Given the description of an element on the screen output the (x, y) to click on. 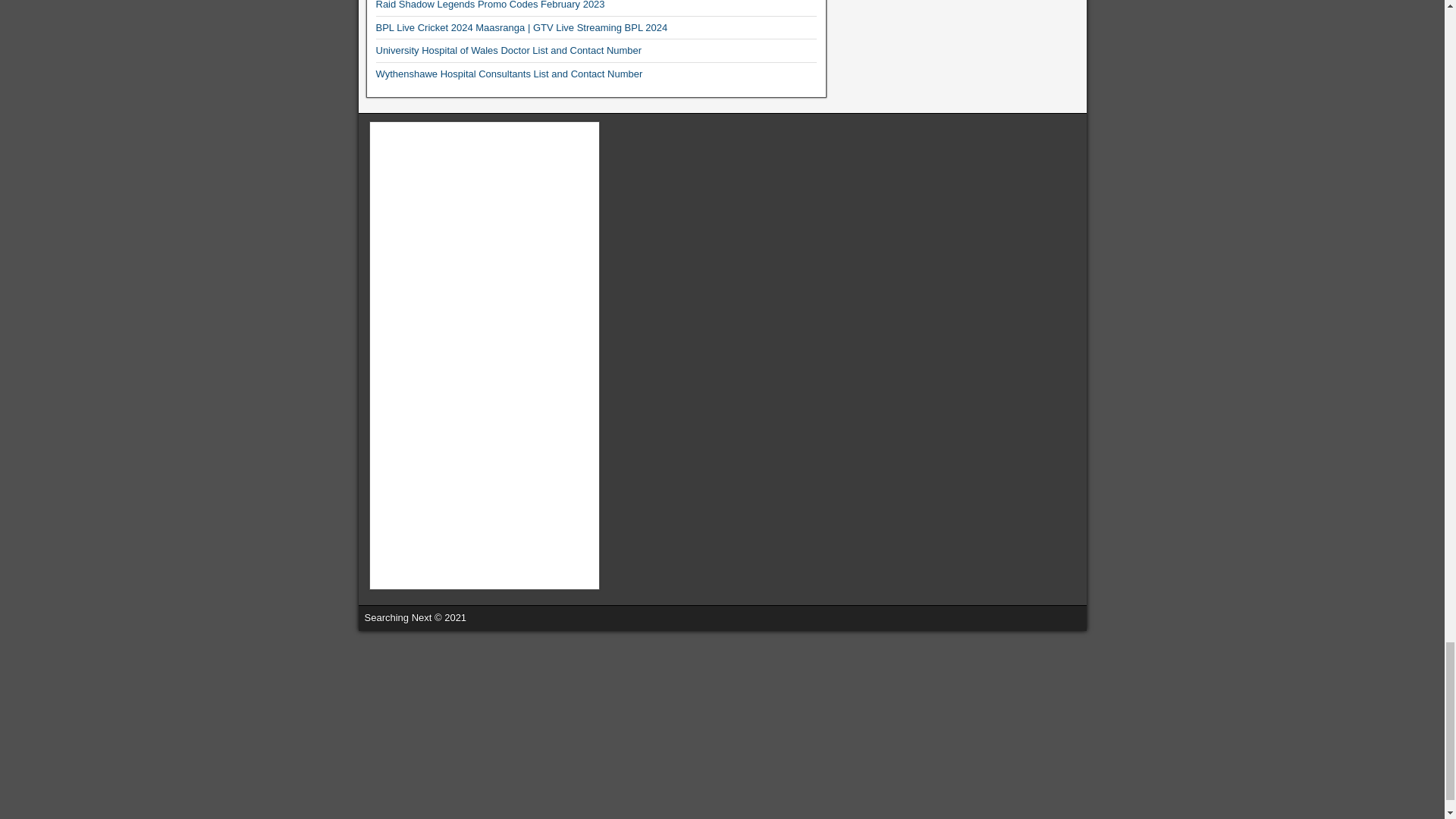
Wythenshawe Hospital Consultants List and Contact Number (509, 73)
Raid Shadow Legends Promo Codes February 2023 (490, 4)
University Hospital of Wales Doctor List and Contact Number (508, 50)
